Given the description of an element on the screen output the (x, y) to click on. 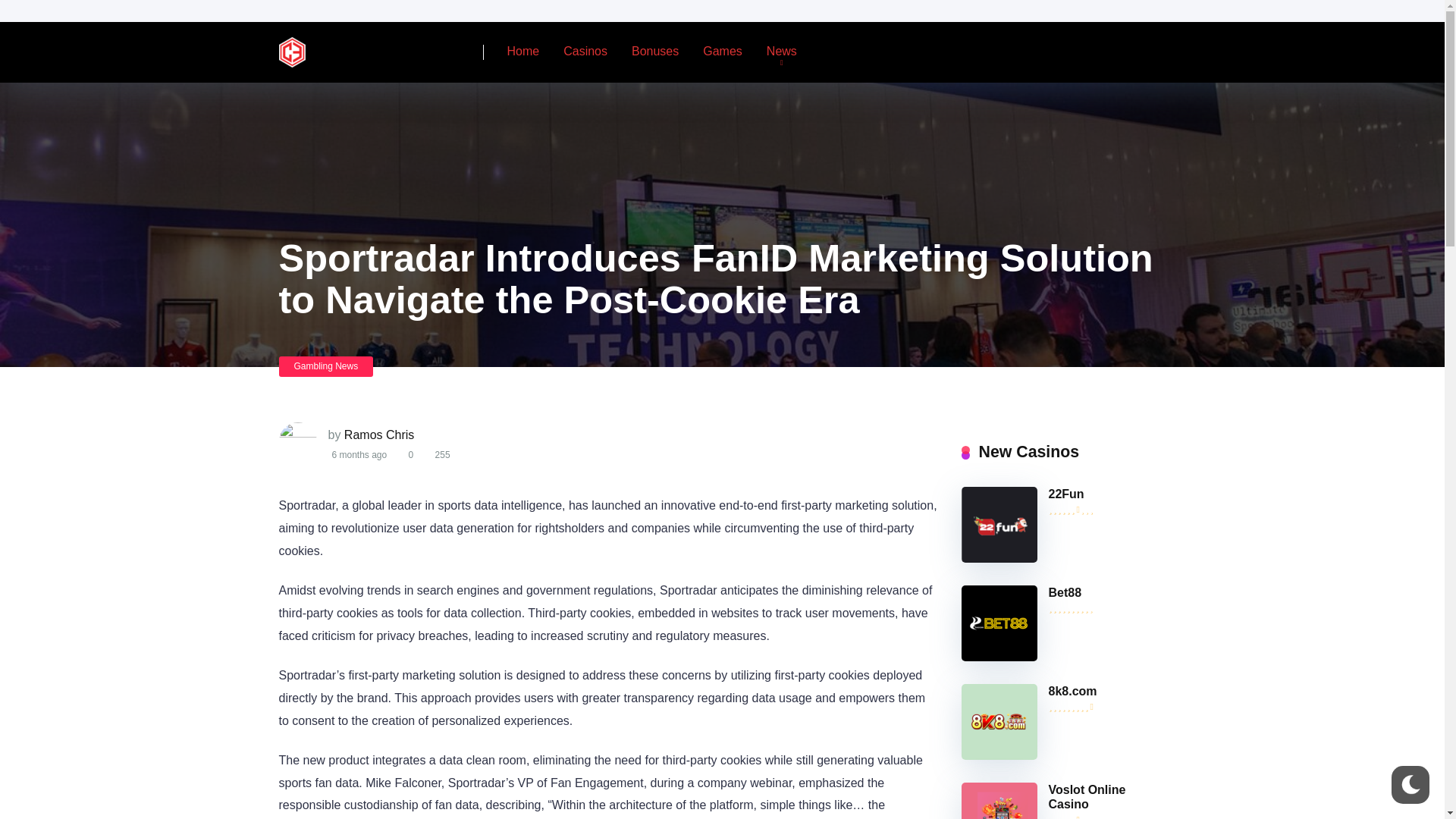
Bonuses (655, 52)
Casinos (585, 52)
News (781, 52)
8k8.com (998, 755)
22Fun (1065, 494)
Bet88 (1064, 592)
Gambling News (326, 366)
Bet88 (1064, 592)
Voslot Online Casino (1086, 796)
8k8.com (1072, 691)
22Fun (998, 558)
8k8.com (1072, 691)
Bet88 (998, 656)
Voslot Online Casino (1086, 796)
Ramos Chris (378, 434)
